Given the description of an element on the screen output the (x, y) to click on. 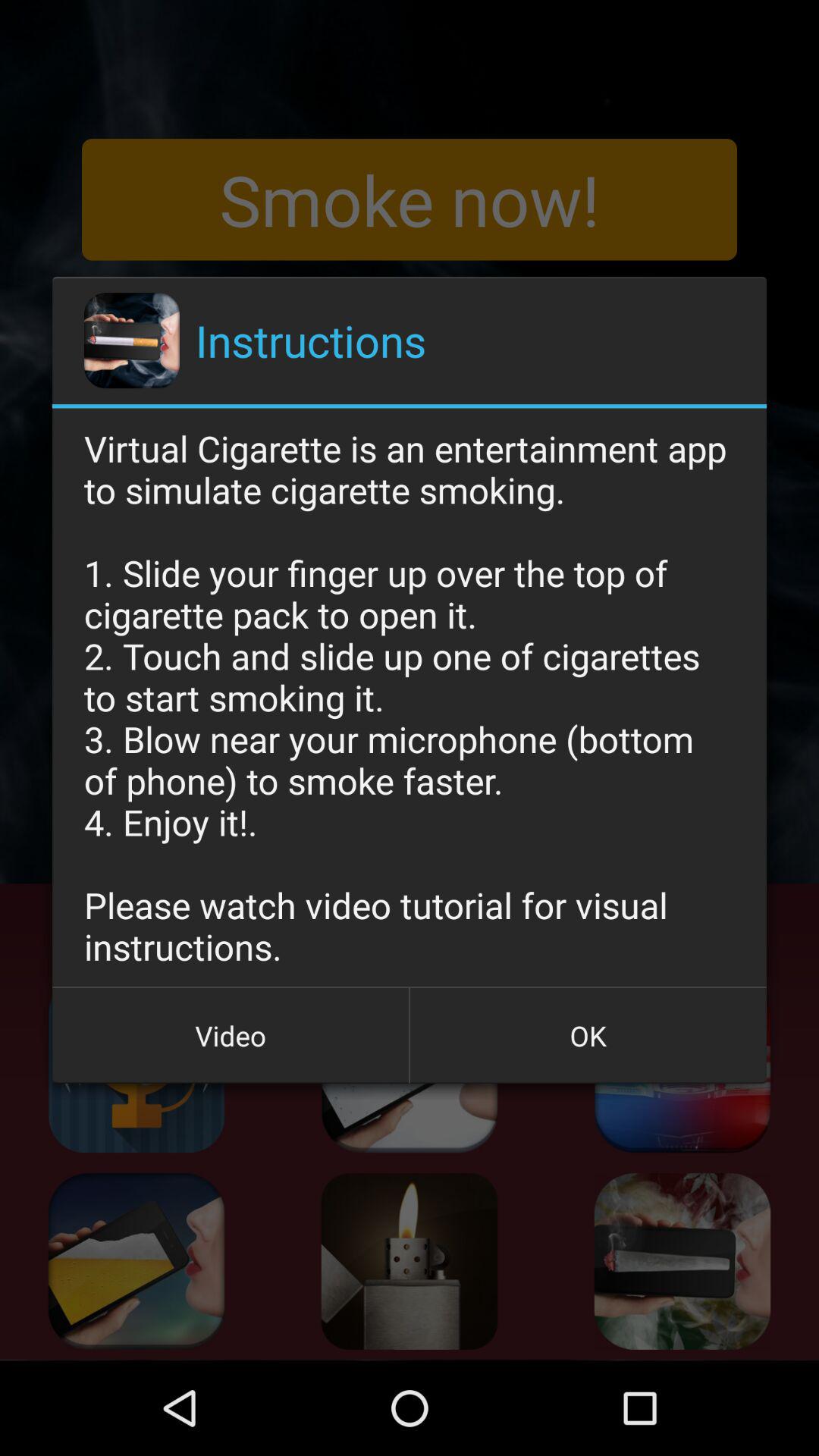
choose icon at the bottom right corner (588, 1035)
